Given the description of an element on the screen output the (x, y) to click on. 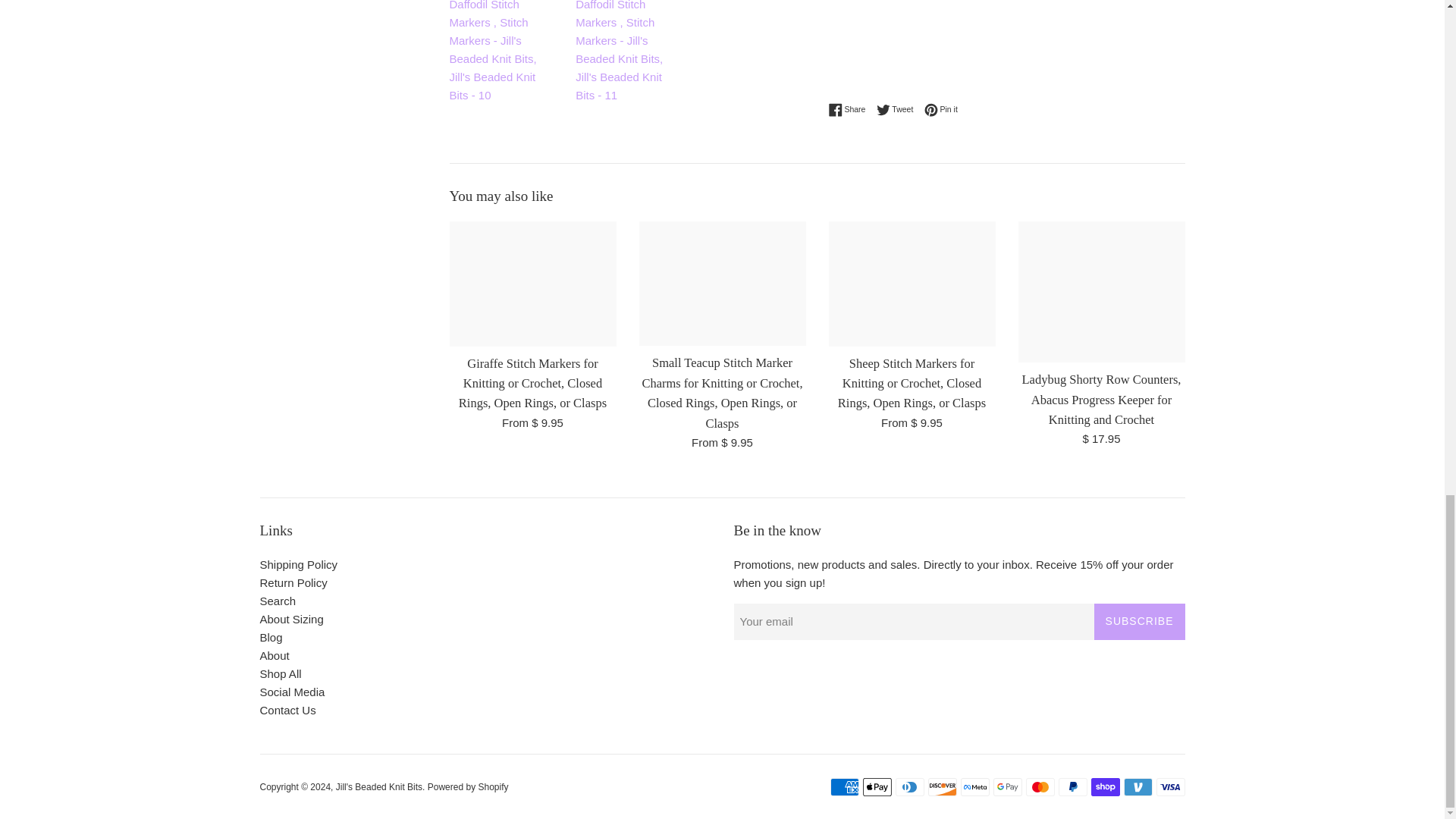
Venmo (1138, 787)
Share on Facebook (850, 110)
Pin on Pinterest (941, 110)
Google Pay (1007, 787)
PayPal (1072, 787)
Visa (1170, 787)
Discover (942, 787)
Tweet on Twitter (898, 110)
